Given the description of an element on the screen output the (x, y) to click on. 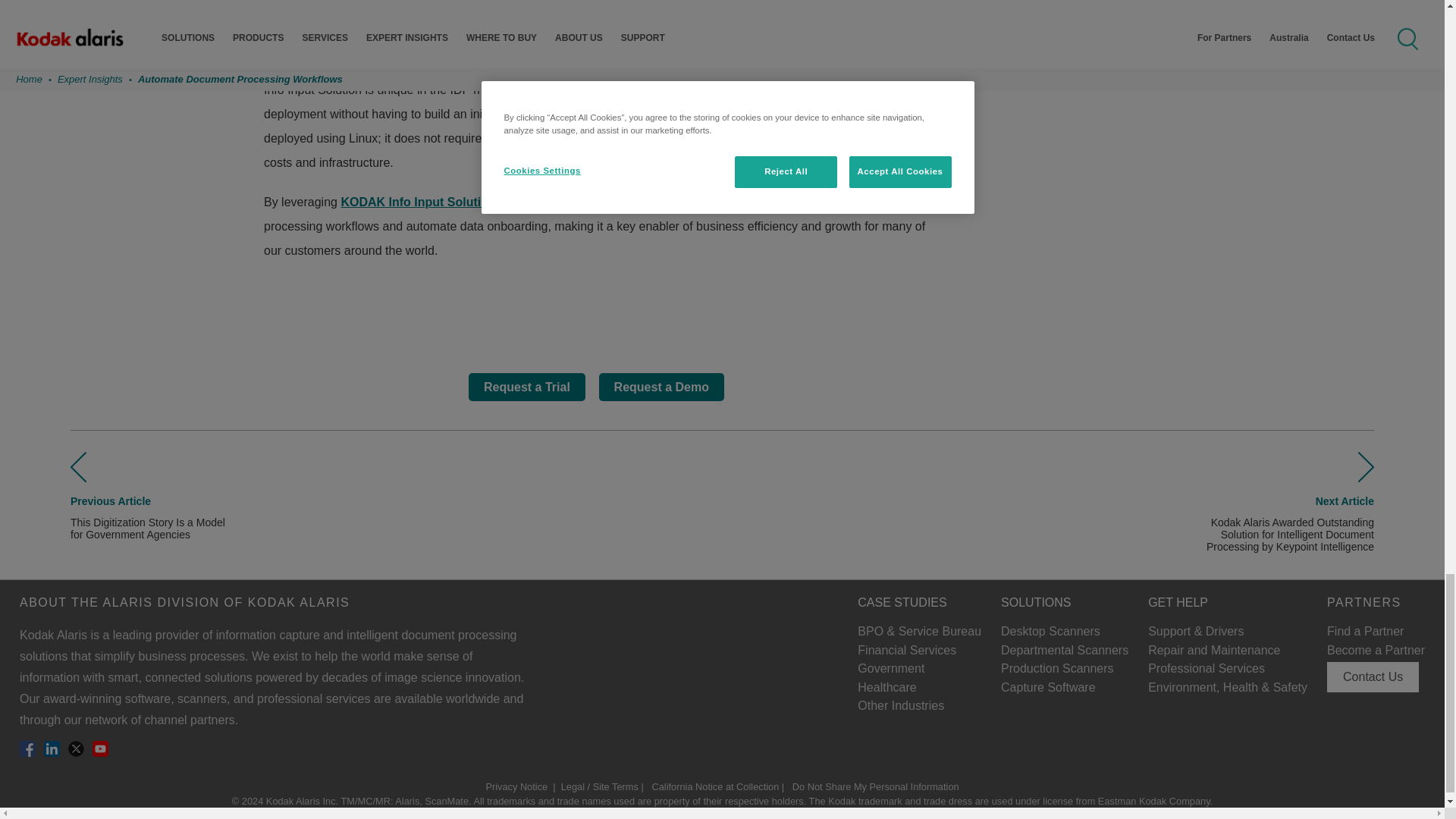
This Digitization Story Is a Model for Government Agencies (77, 478)
This Digitization Story Is a Model for Government Agencies (110, 500)
